Given the description of an element on the screen output the (x, y) to click on. 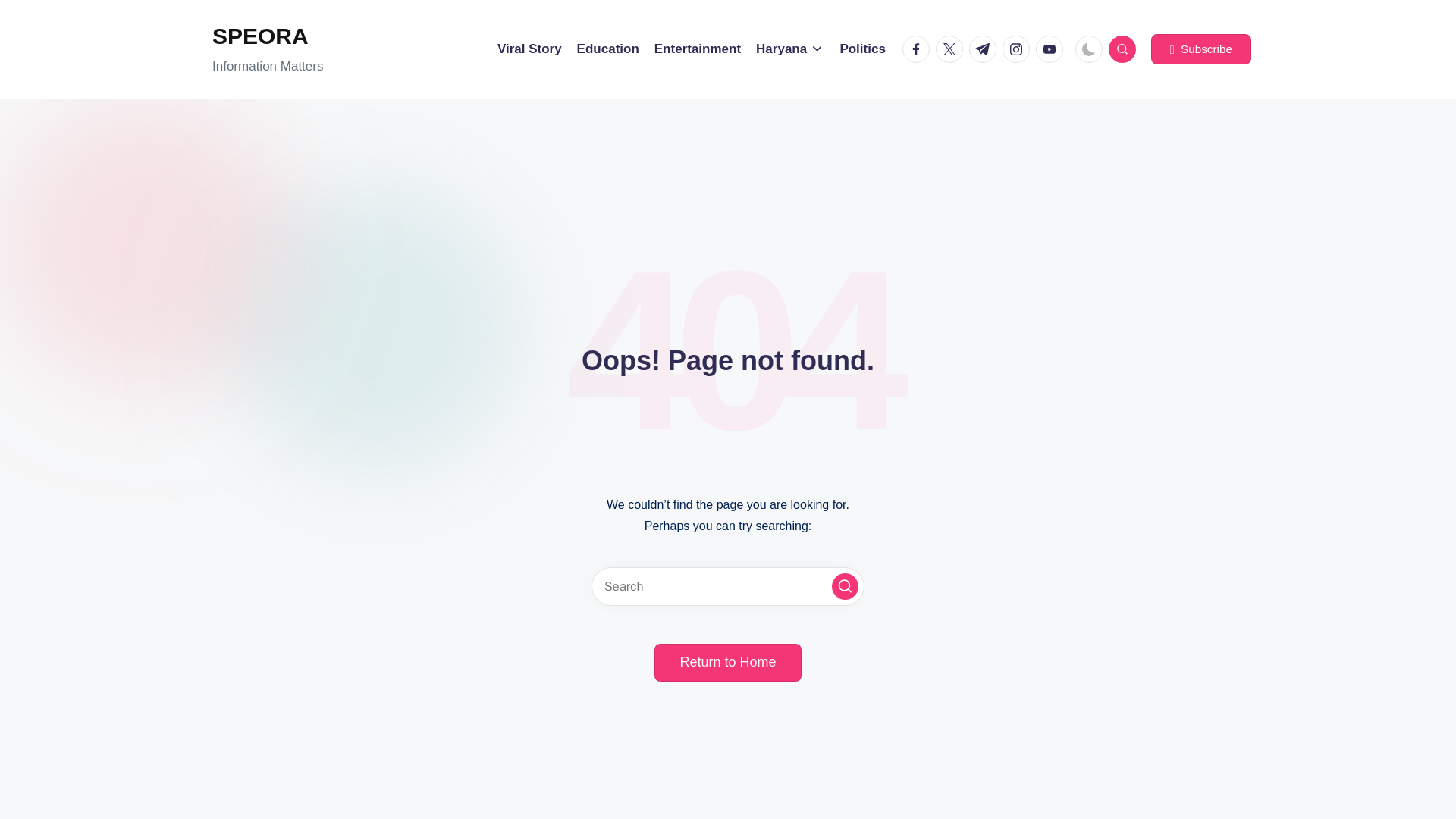
SPEORA (267, 36)
instagram.com (1019, 49)
facebook.com (919, 49)
Haryana (789, 48)
Education (607, 48)
Subscribe (1200, 49)
t.me (986, 49)
Entertainment (697, 48)
twitter.com (952, 49)
Politics (862, 48)
